Given the description of an element on the screen output the (x, y) to click on. 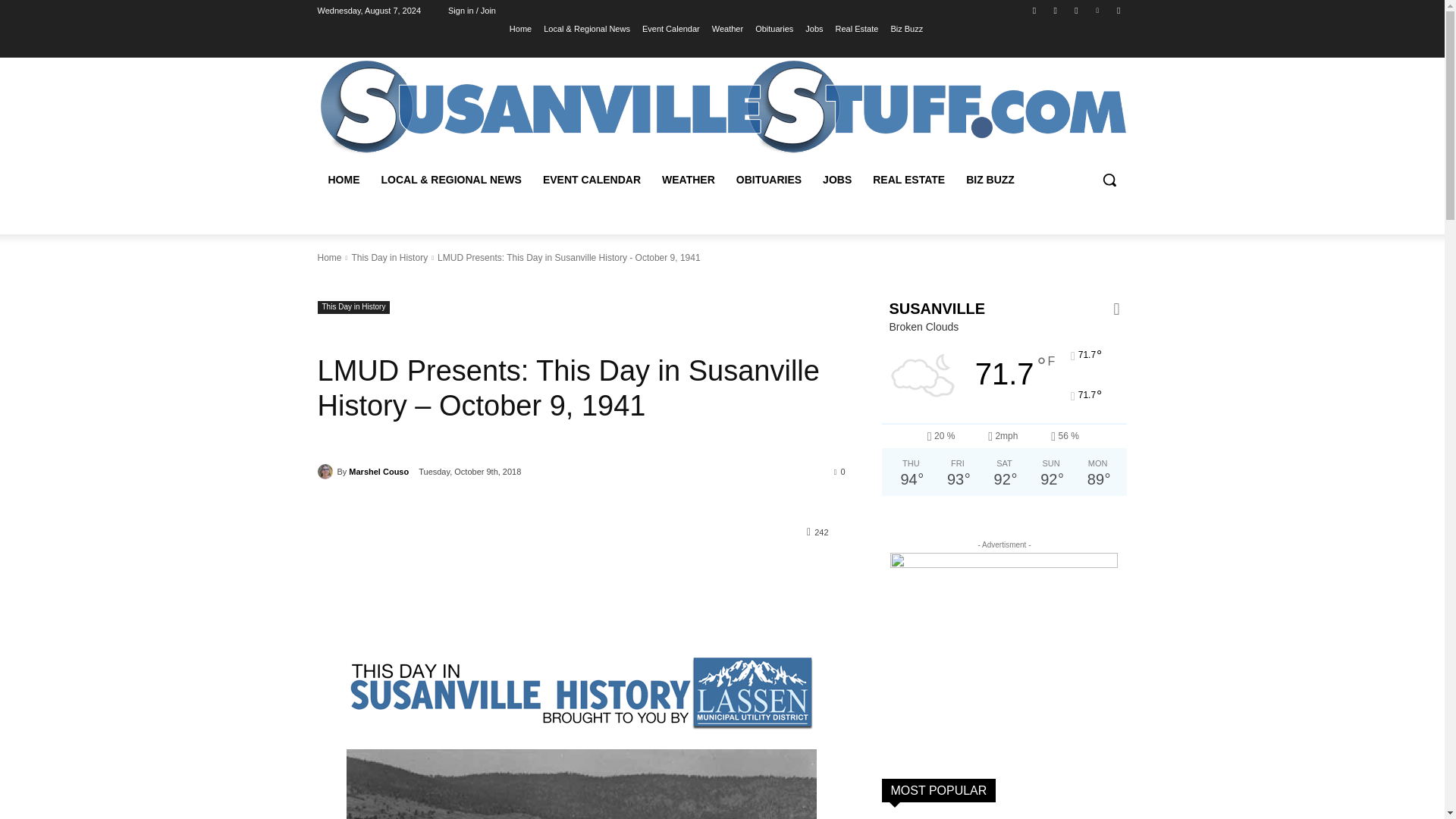
Twitter (1075, 9)
Vimeo (1097, 9)
View all posts in This Day in History (389, 257)
OBITUARIES (768, 179)
BIZ BUZZ (990, 179)
header1920 (721, 107)
WEATHER (687, 179)
JOBS (836, 179)
Biz Buzz (906, 28)
EVENT CALENDAR (591, 179)
Instagram (1055, 9)
Real Estate (857, 28)
Obituaries (774, 28)
REAL ESTATE (908, 179)
Facebook (1034, 9)
